Given the description of an element on the screen output the (x, y) to click on. 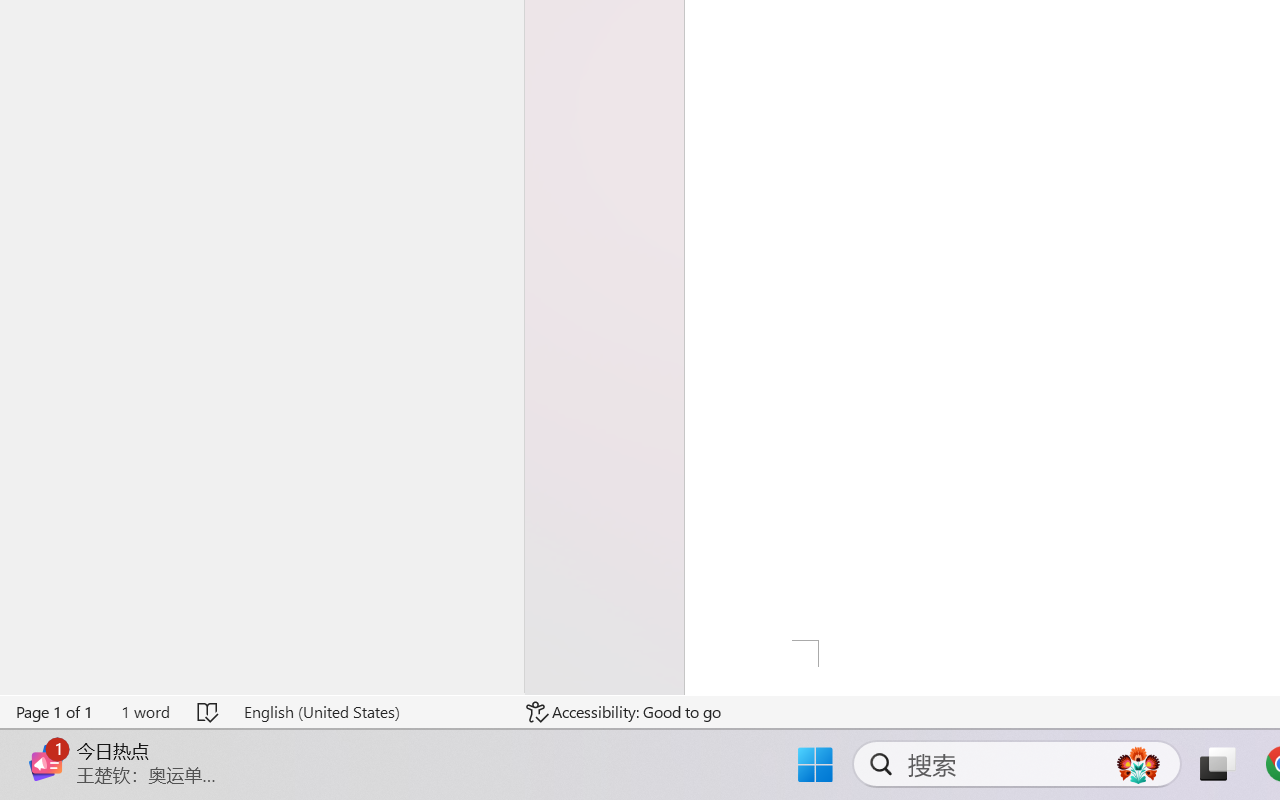
Spelling and Grammar Check No Errors (208, 712)
Language English (United States) (370, 712)
Accessibility Checker Accessibility: Good to go (623, 712)
Word Count 1 word (145, 712)
Class: Image (46, 762)
Page Number Page 1 of 1 (55, 712)
AutomationID: DynamicSearchBoxGleamImage (1138, 764)
